Given the description of an element on the screen output the (x, y) to click on. 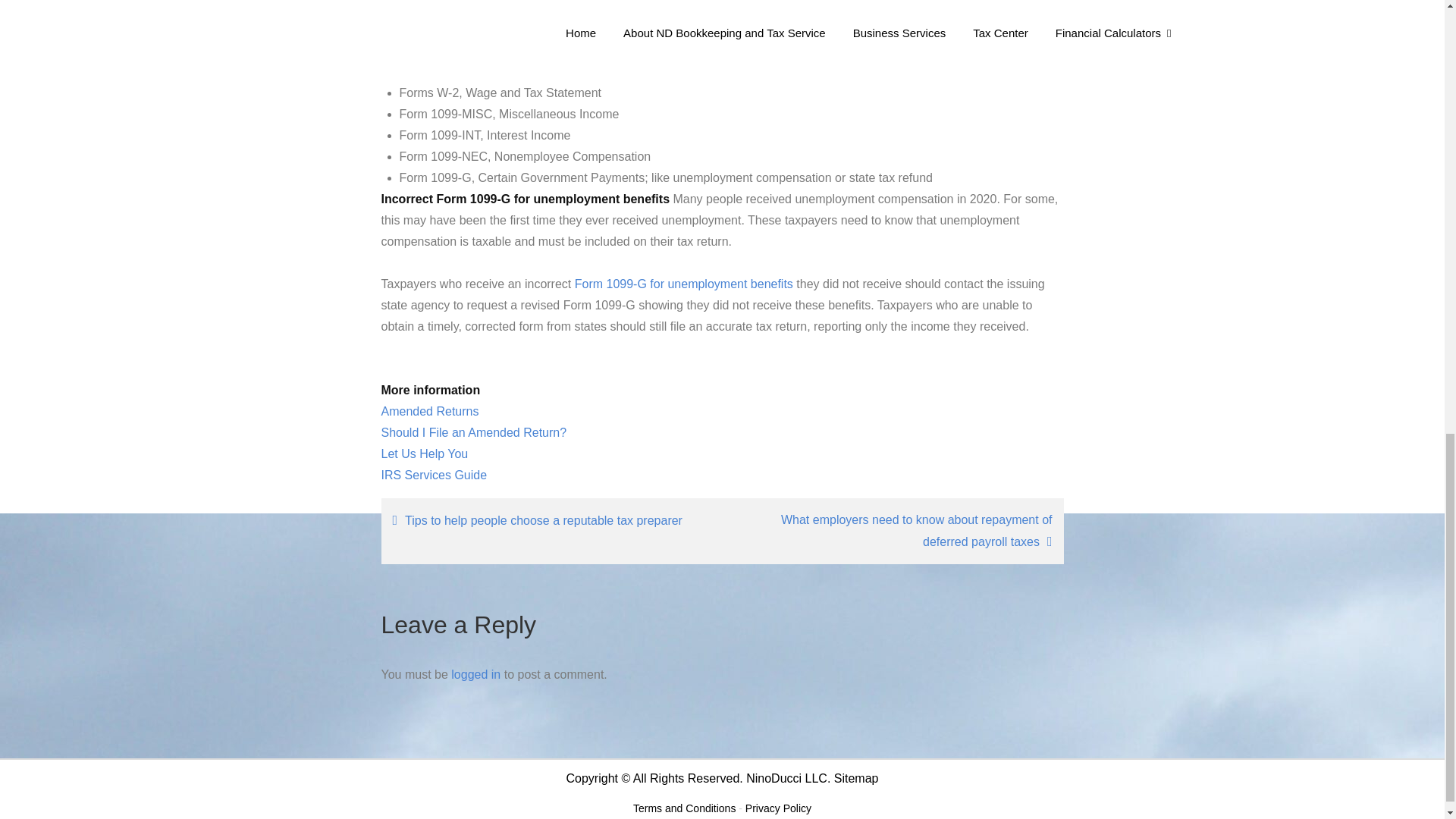
Sitemap (856, 778)
Amended Returns (429, 410)
Terms and Conditions (684, 808)
IRS Services Guide (433, 474)
Should I File an Amended Return? (473, 431)
Form 1099-G for unemployment benefits (684, 283)
Let Us Help You (423, 453)
logged in (475, 674)
Form 1040-X (592, 16)
Privacy Policy (777, 808)
Tips to help people choose a reputable tax preparer (548, 520)
